Given the description of an element on the screen output the (x, y) to click on. 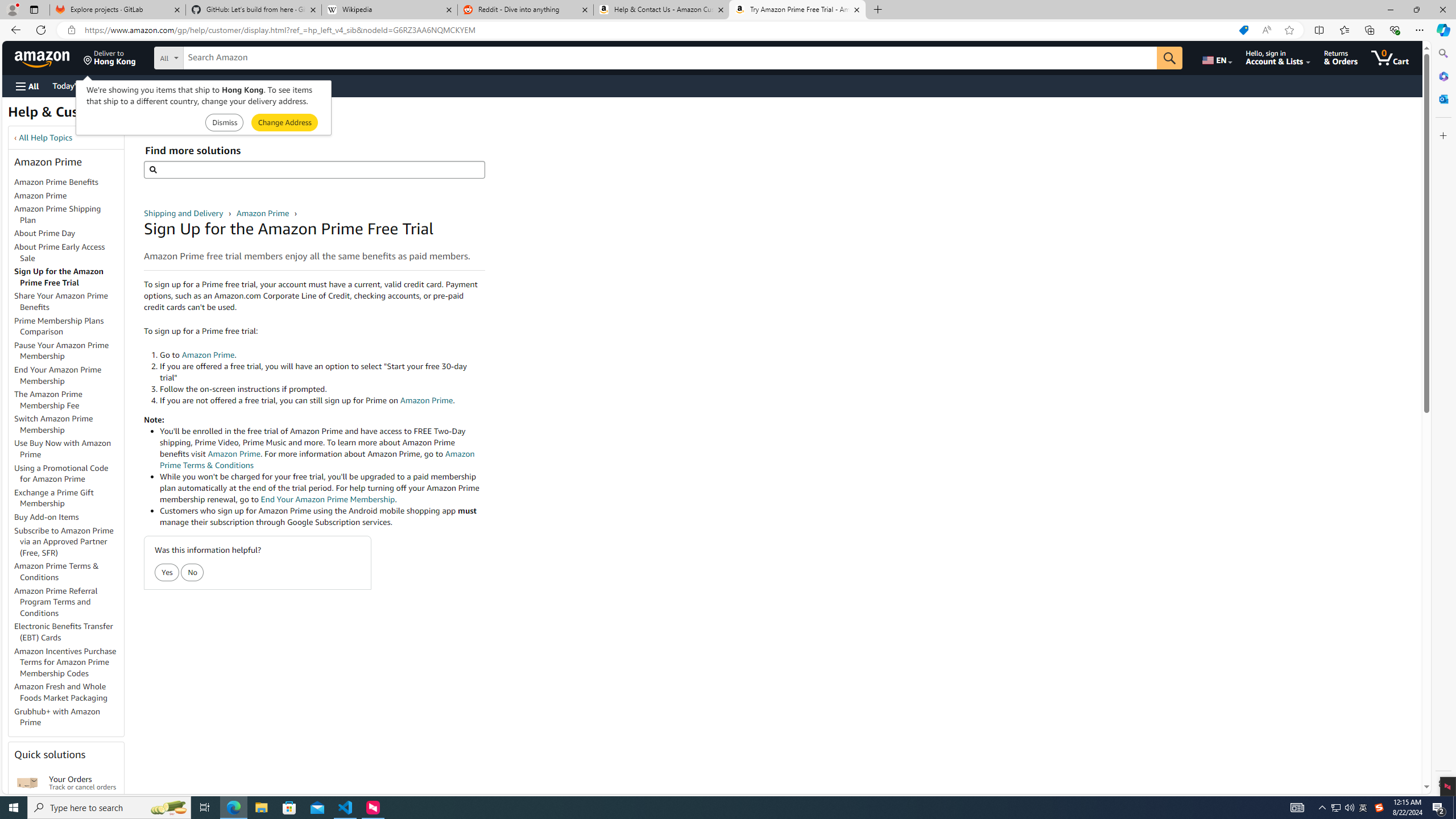
Registry (205, 85)
The Amazon Prime Membership Fee (48, 399)
End Your Amazon Prime Membership (57, 374)
Your Orders Track or cancel orders (82, 782)
Use Buy Now with Amazon Prime (63, 449)
Amazon Prime Benefits (68, 182)
The Amazon Prime Membership Fee (68, 400)
Electronic Benefits Transfer (EBT) Cards (68, 631)
Amazon Prime (40, 195)
